Given the description of an element on the screen output the (x, y) to click on. 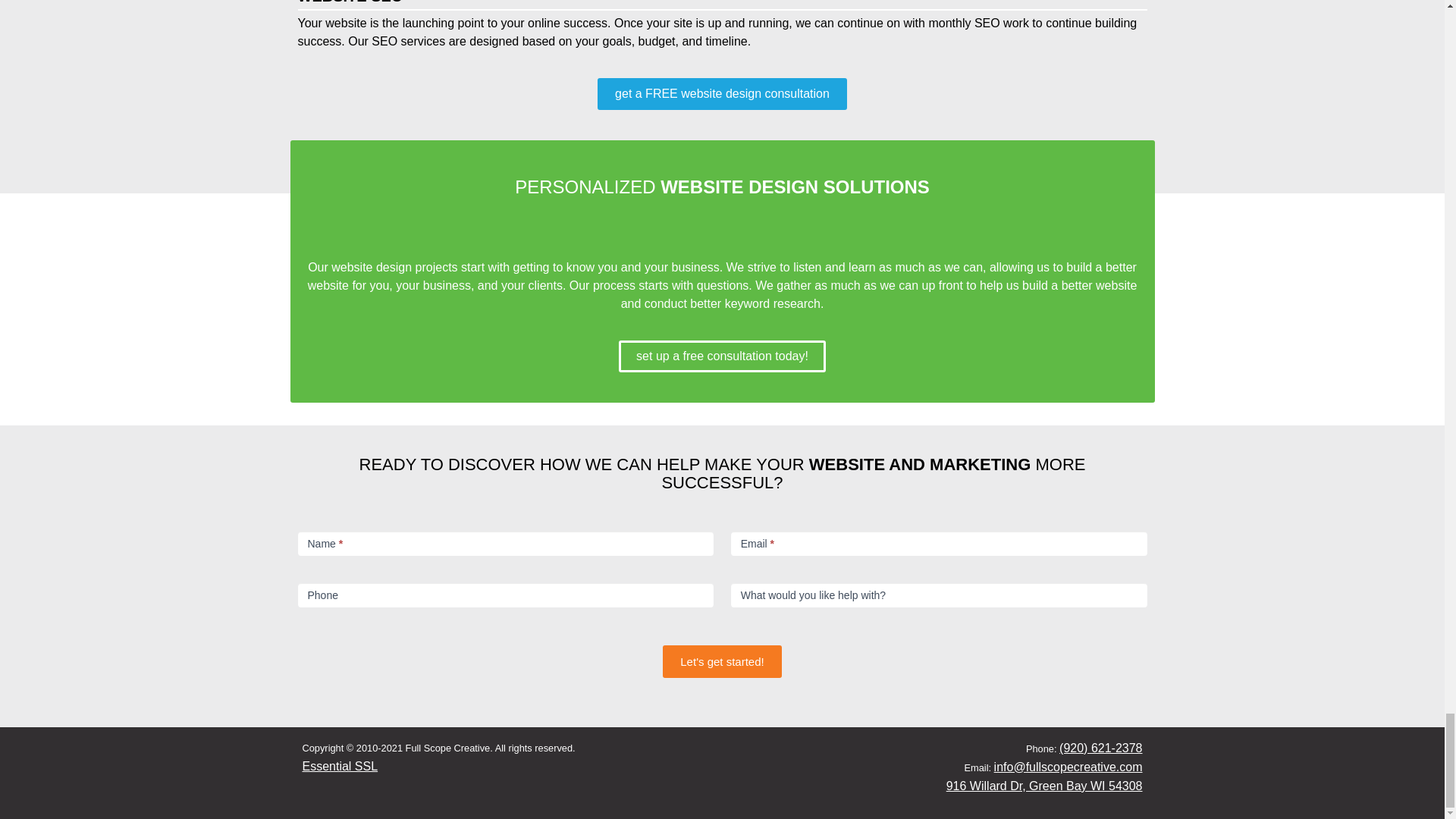
set up a free consultation today! (721, 356)
916 Willard Dr, Green Bay WI 54308 (1044, 785)
get a FREE website design consultation (721, 93)
Essential SSL (339, 766)
Let's get started! (721, 661)
